Given the description of an element on the screen output the (x, y) to click on. 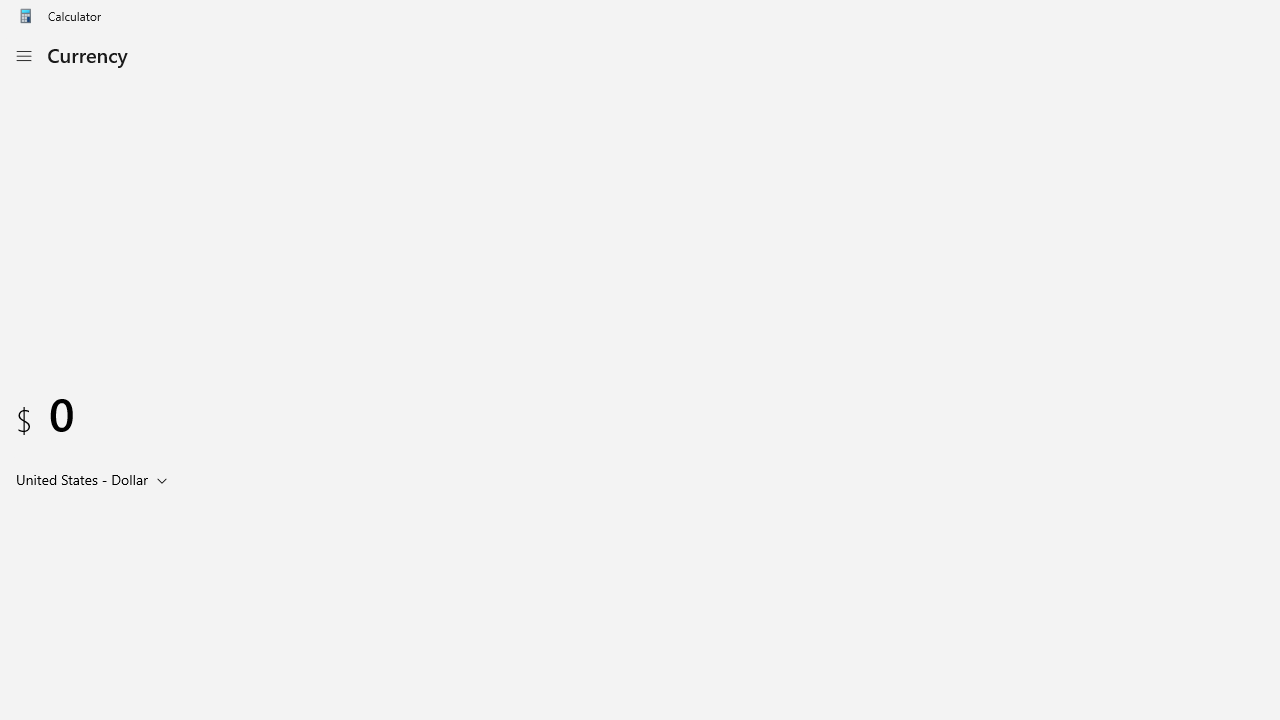
United States Dollar (79, 479)
Input unit (95, 479)
Open Navigation (23, 56)
